Given the description of an element on the screen output the (x, y) to click on. 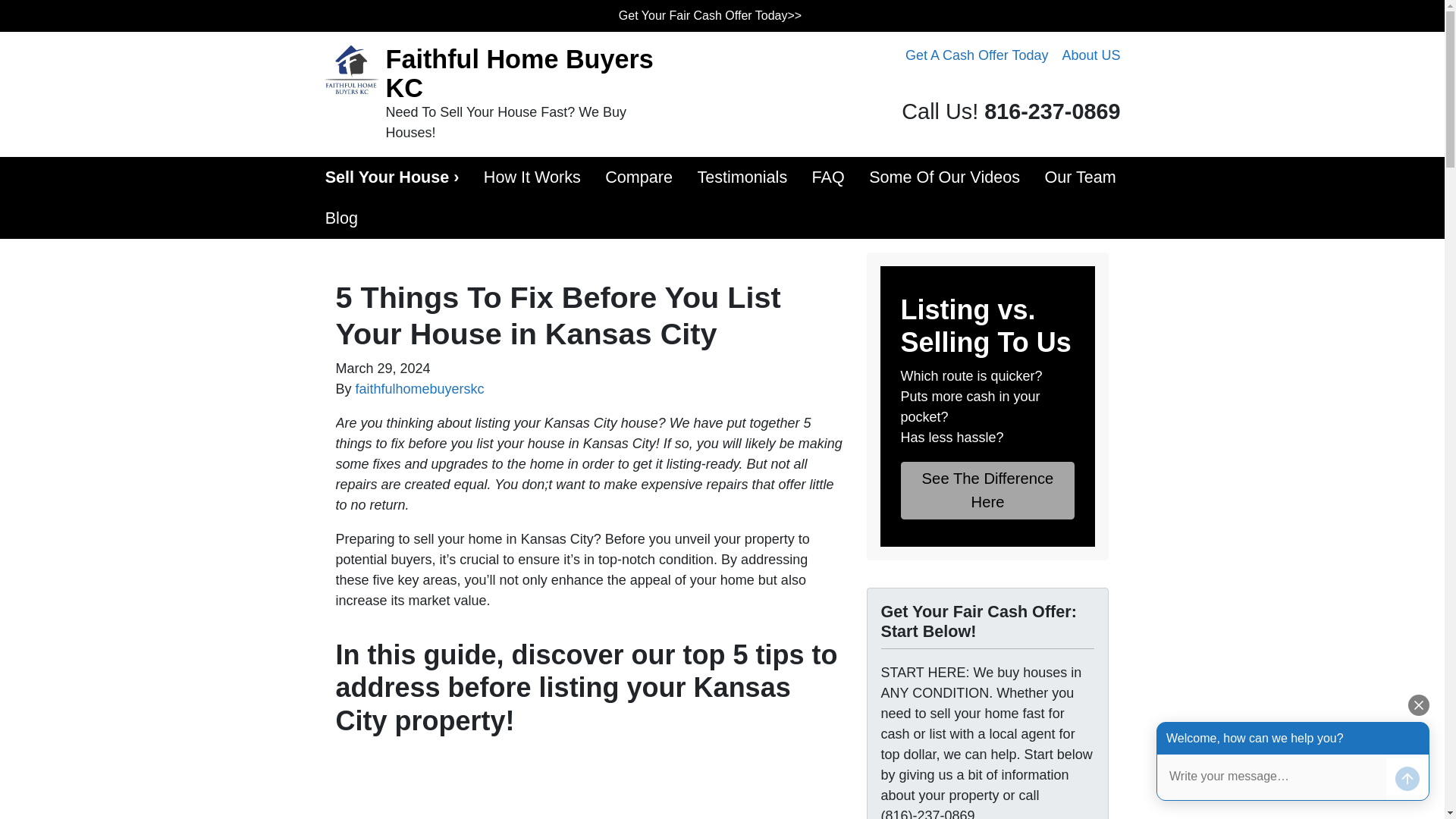
faithfulhomebuyerskc (419, 388)
Our Team (1080, 177)
See The Difference Here (988, 490)
Blog (341, 218)
Our Team (1080, 177)
FAQ (828, 177)
Testimonials (741, 177)
Instagram (1111, 85)
How It Works (531, 177)
